Given the description of an element on the screen output the (x, y) to click on. 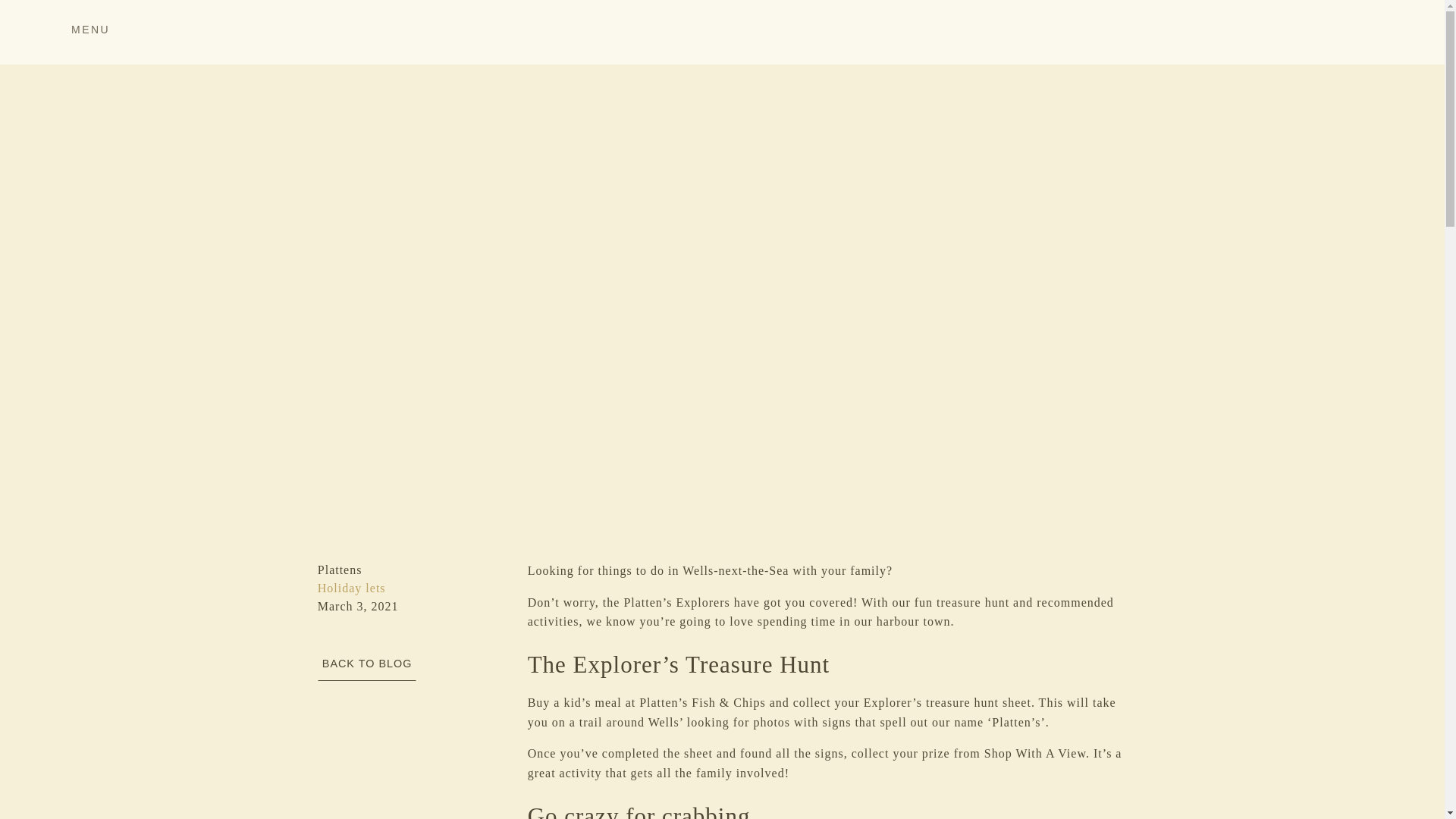
Holiday lets (351, 587)
BACK TO BLOG (366, 663)
